Given the description of an element on the screen output the (x, y) to click on. 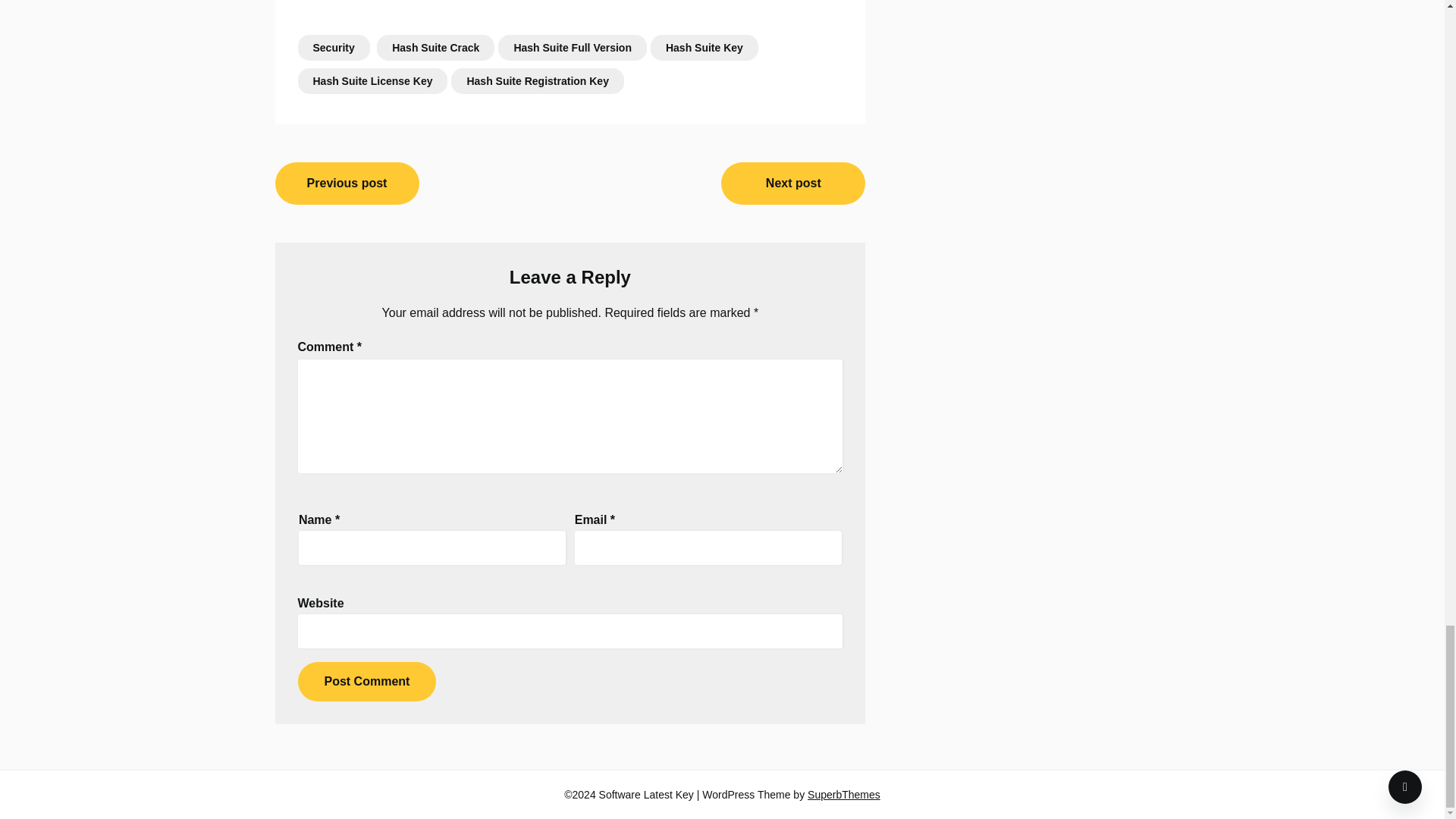
Post Comment (366, 681)
Hash Suite Key (704, 47)
Hash Suite Full Version (571, 47)
Hash Suite License Key (371, 80)
Security (333, 47)
Hash Suite Registration Key (537, 80)
Next post (792, 183)
Hash Suite Crack (436, 47)
Previous post (347, 183)
Post Comment (366, 681)
